Given the description of an element on the screen output the (x, y) to click on. 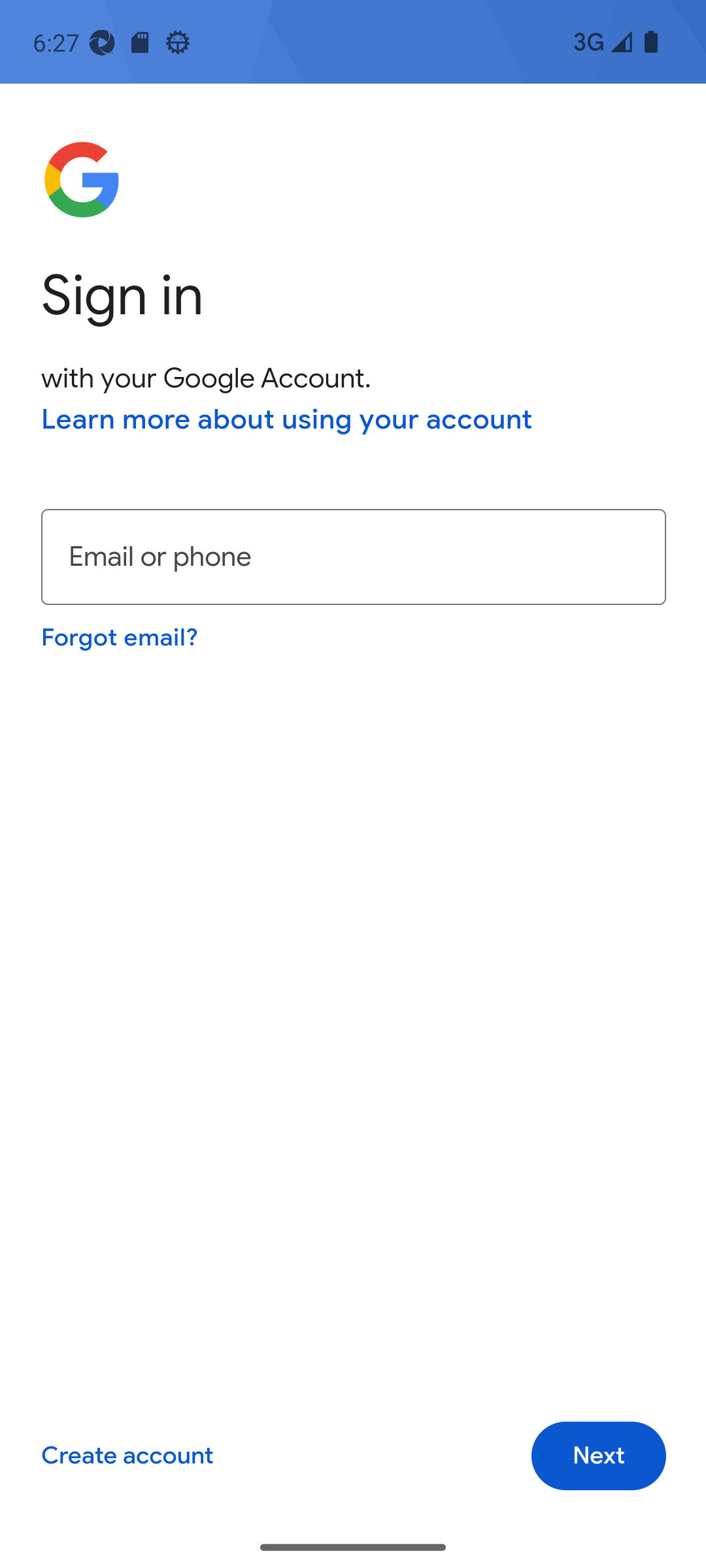
Learn more about using your account (286, 419)
Forgot email? (119, 635)
Create account (127, 1455)
Next (598, 1455)
